Given the description of an element on the screen output the (x, y) to click on. 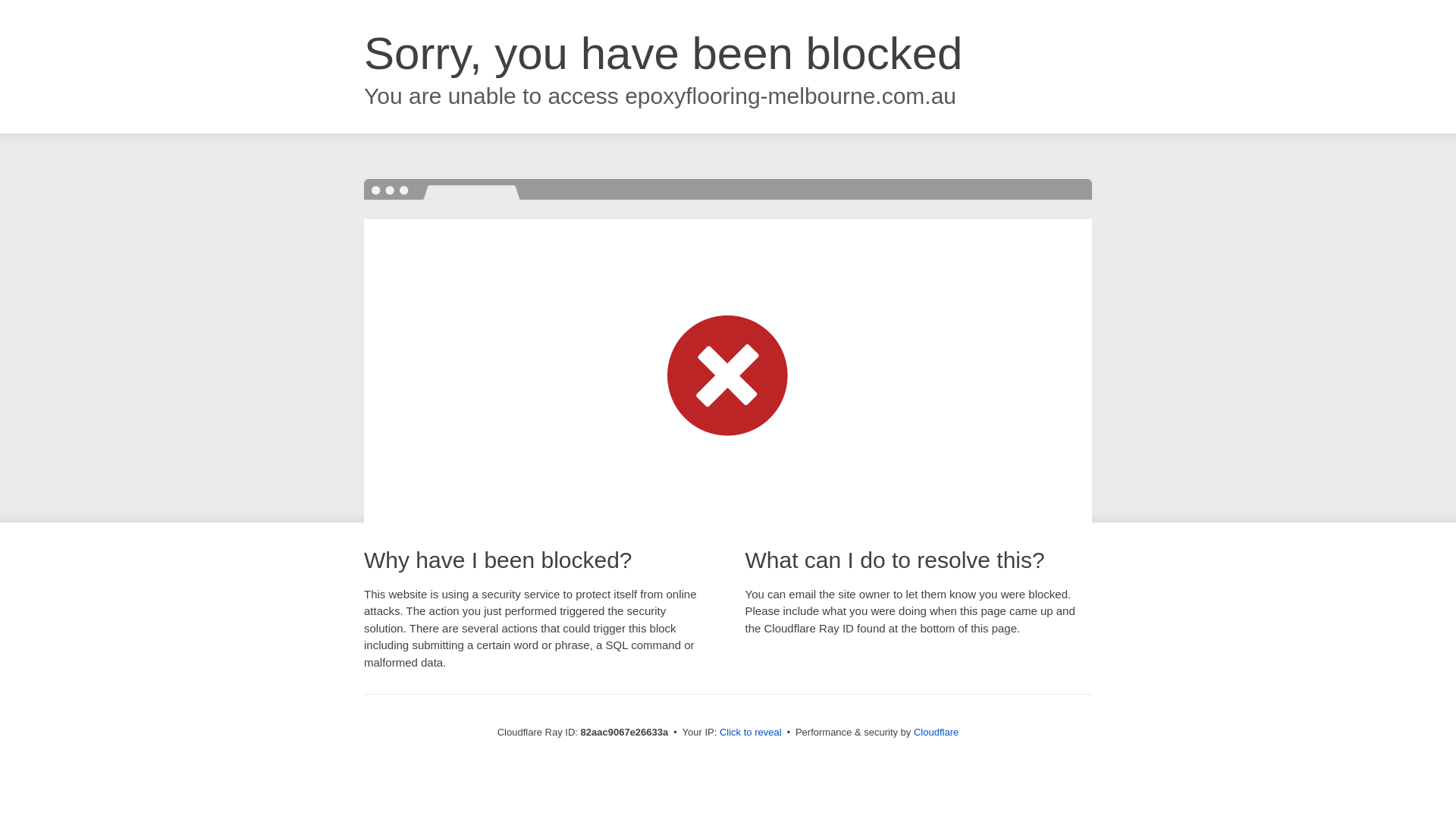
Click to reveal Element type: text (750, 732)
Cloudflare Element type: text (935, 731)
